Given the description of an element on the screen output the (x, y) to click on. 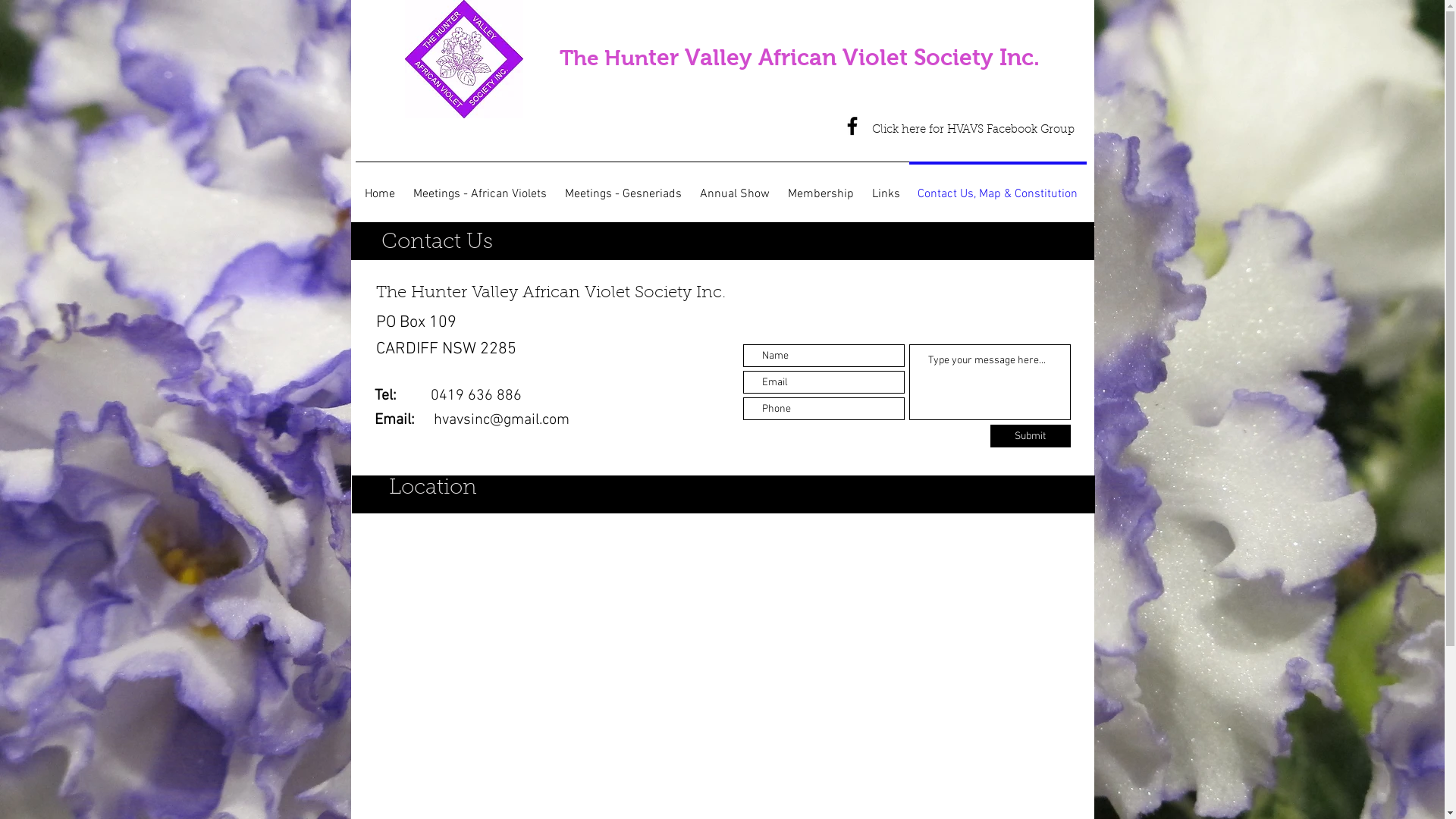
Meetings - Gesneriads Element type: text (622, 187)
The Hunter Valley African Violet Society Inc. Element type: text (799, 56)
Meetings - African Violets Element type: text (479, 187)
Links Element type: text (885, 187)
hvavsinc@gmail.com Element type: text (501, 420)
Home Element type: text (378, 187)
Contact Us, Map & Constitution Element type: text (996, 187)
Annual Show Element type: text (734, 187)
Submit Element type: text (1030, 435)
Membership Element type: text (820, 187)
